Given the description of an element on the screen output the (x, y) to click on. 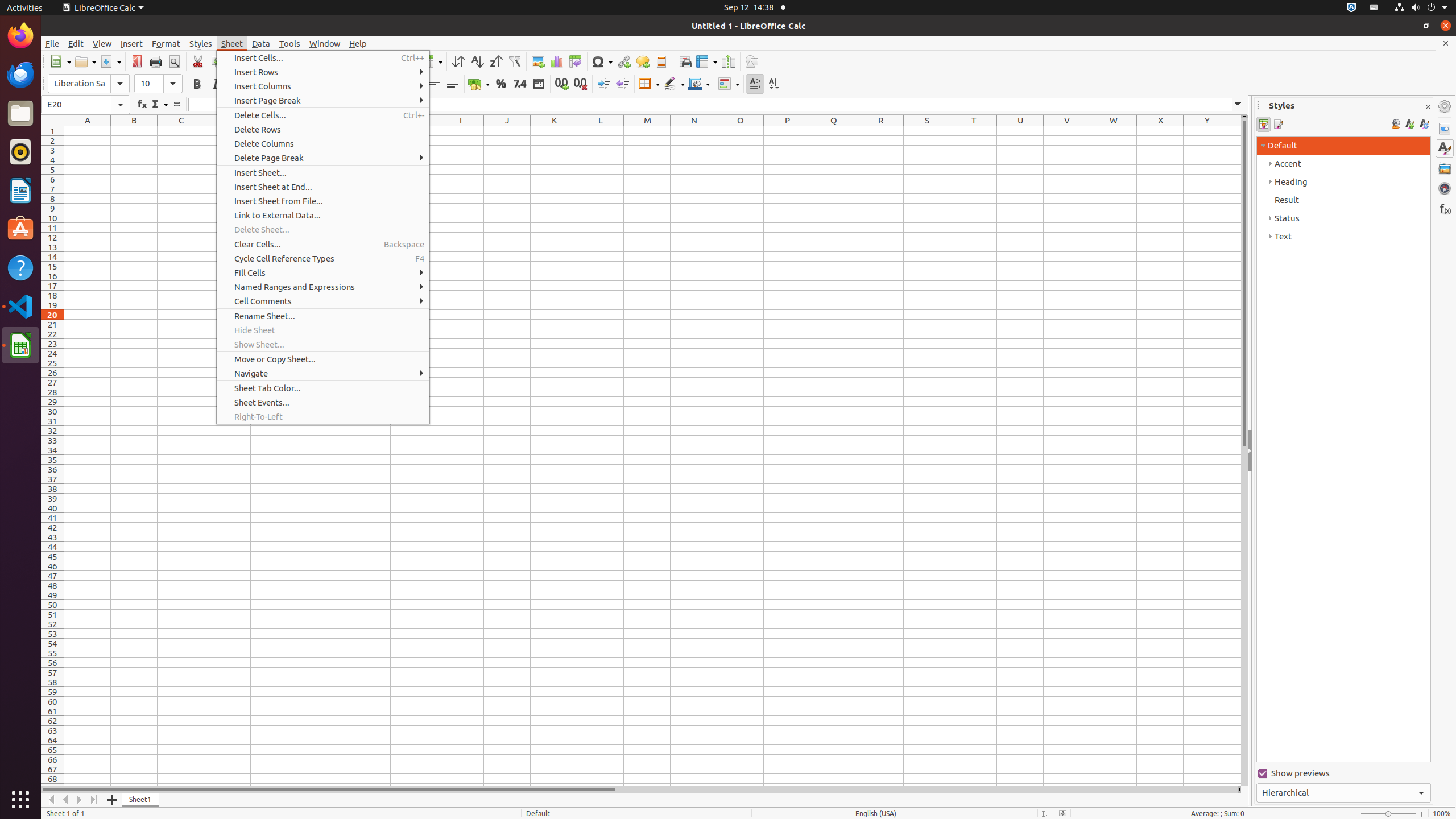
Move To Home Element type: push-button (51, 799)
Tools Element type: menu (289, 43)
Move To End Element type: push-button (94, 799)
Gallery Element type: radio-button (1444, 168)
Print Element type: push-button (155, 61)
